Given the description of an element on the screen output the (x, y) to click on. 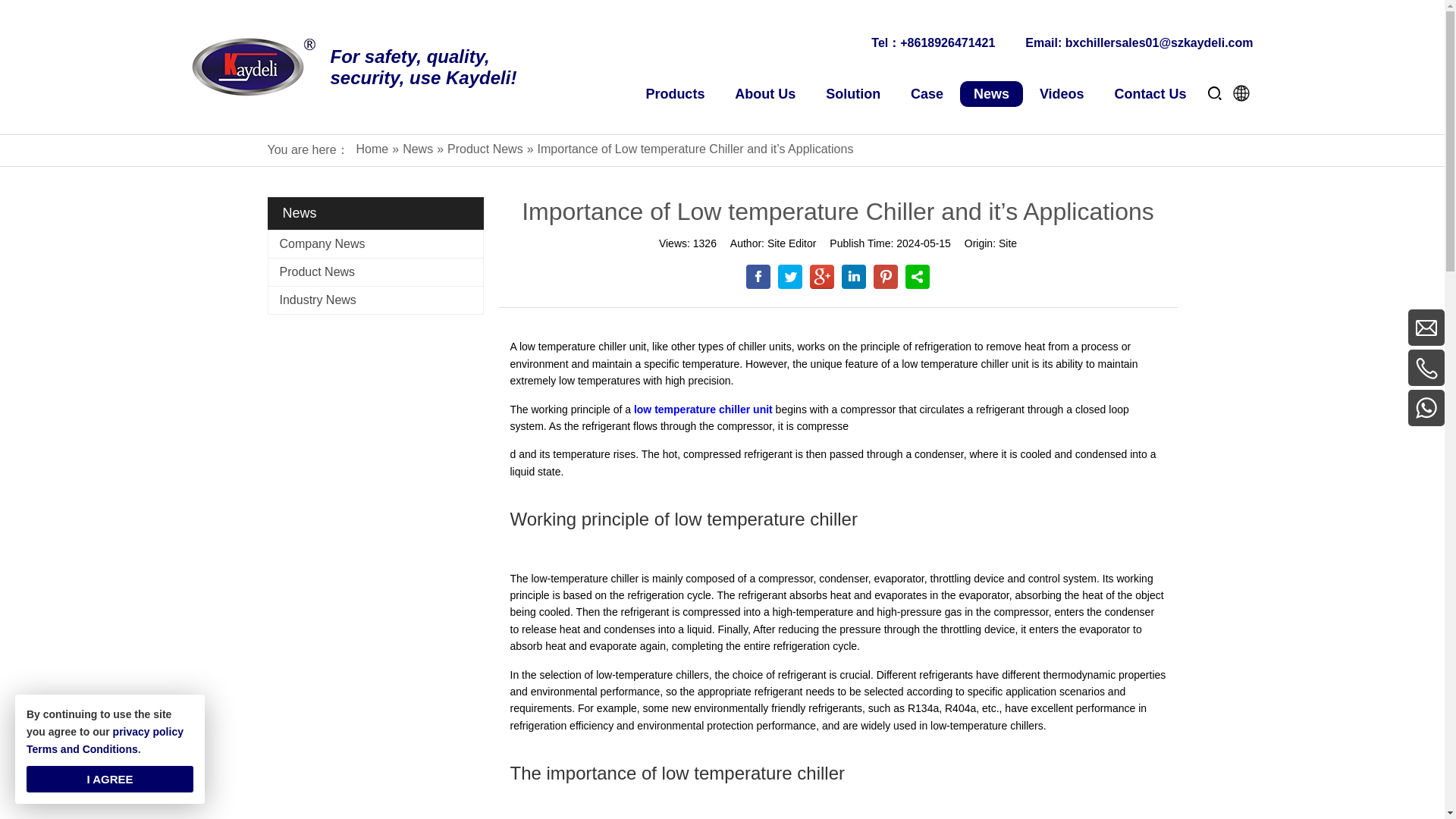
Videos (1061, 94)
Case (926, 94)
Contact Us (1149, 94)
About Us (764, 94)
News (991, 94)
low temperature chiller (701, 409)
Products (674, 94)
Solution (852, 94)
